Given the description of an element on the screen output the (x, y) to click on. 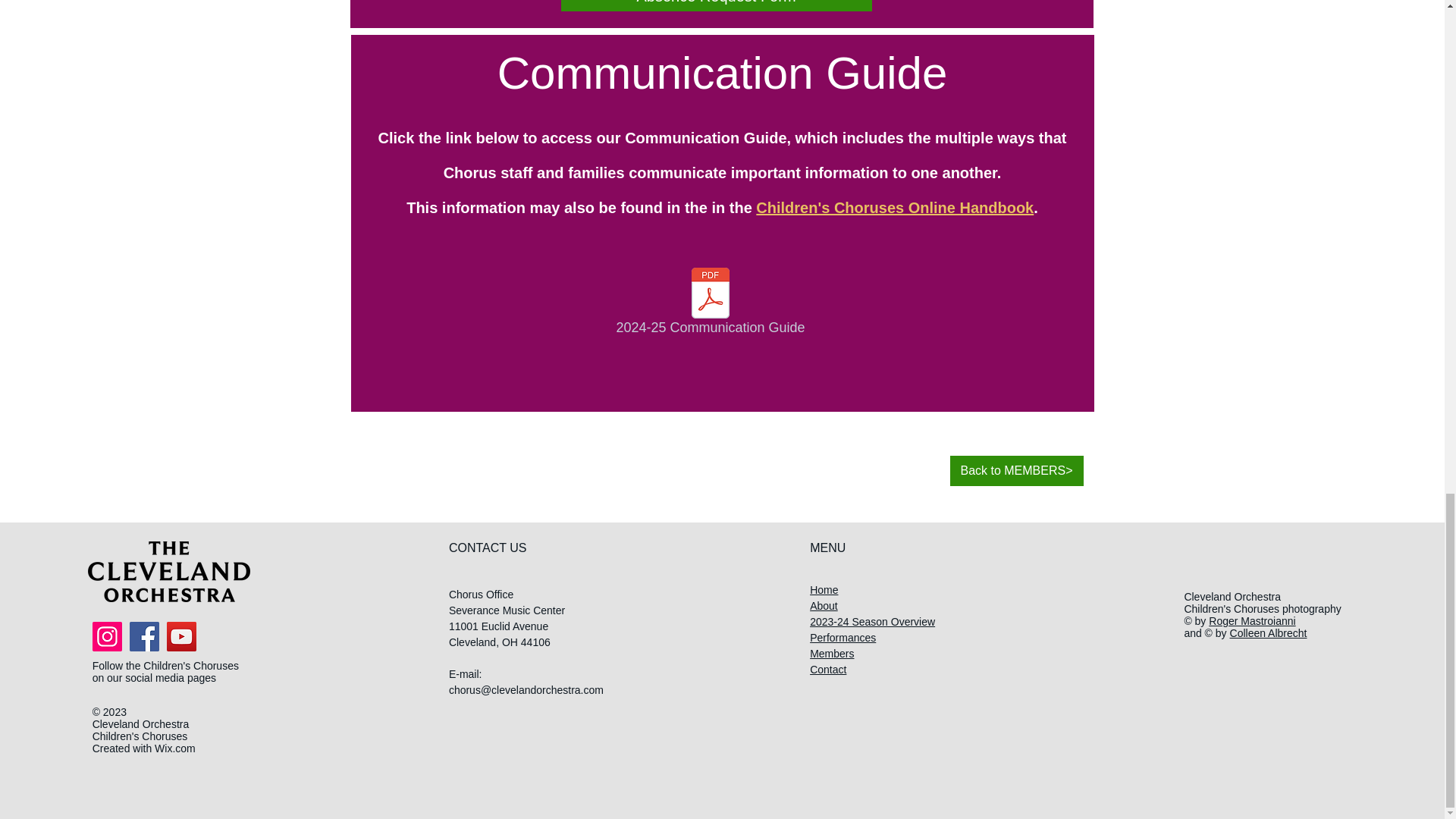
Colleen Albrecht (1268, 633)
2024-25 Communication Guide (710, 304)
Performances (842, 637)
Contact (827, 669)
About (823, 605)
2024-25 Communication Guide (710, 304)
Home (823, 589)
TCO-LOGO-Stacked-WHT-on-BLK-box-RGB-300d (168, 571)
Wix.com (174, 748)
2023-24 Season Overview (871, 621)
